Given the description of an element on the screen output the (x, y) to click on. 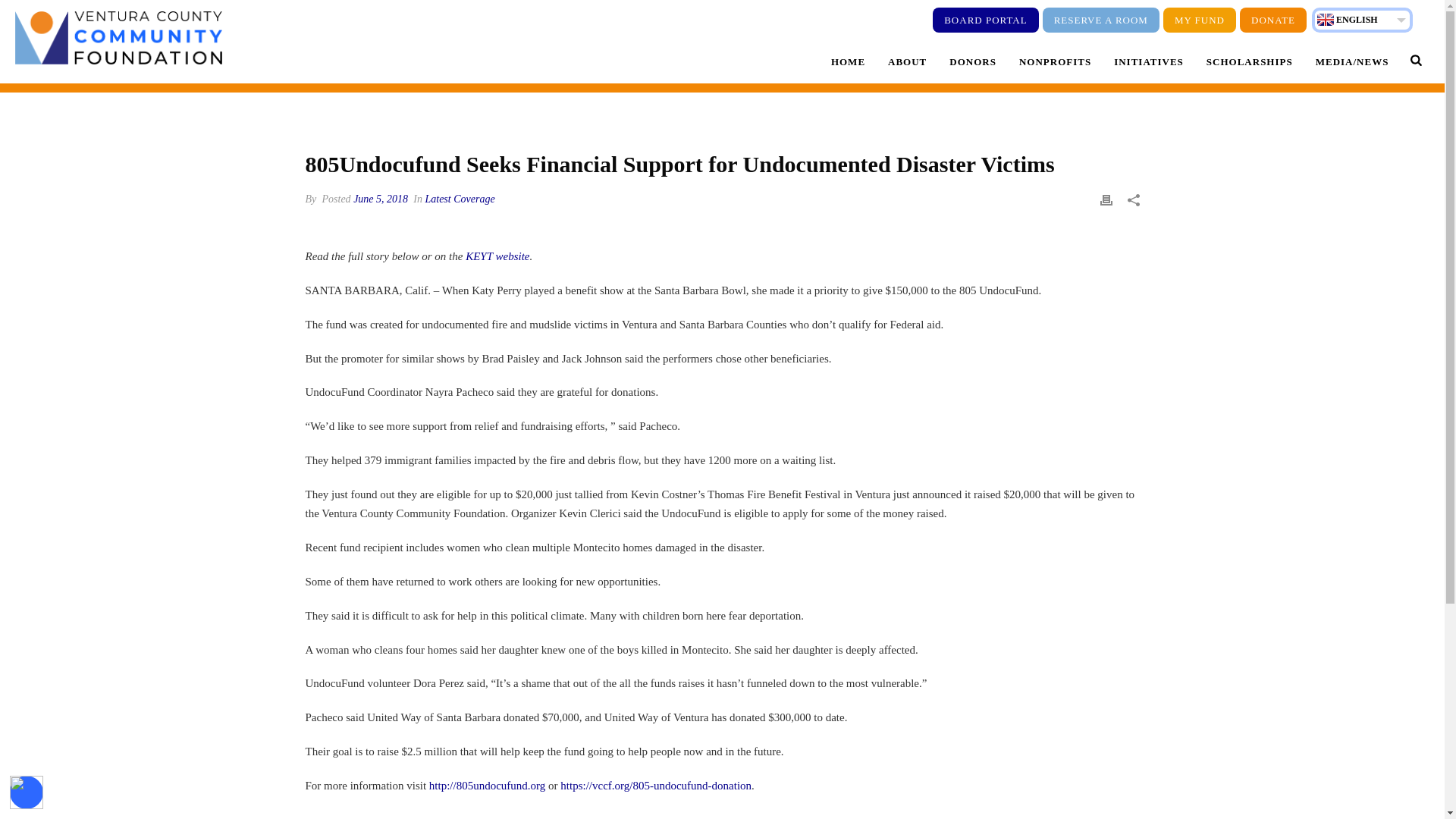
ENGLISH (1359, 21)
DONATE (1273, 19)
RESERVE A ROOM (1100, 19)
INITIATIVES (1148, 60)
DONORS (972, 60)
HOME (847, 60)
NONPROFITS (1054, 60)
BOARD PORTAL (986, 19)
SCHOLARSHIPS (1249, 60)
Accessibility Menu (26, 792)
ABOUT (906, 60)
HOME (847, 60)
NONPROFITS (1054, 60)
MY FUND (1199, 19)
ABOUT (906, 60)
